Given the description of an element on the screen output the (x, y) to click on. 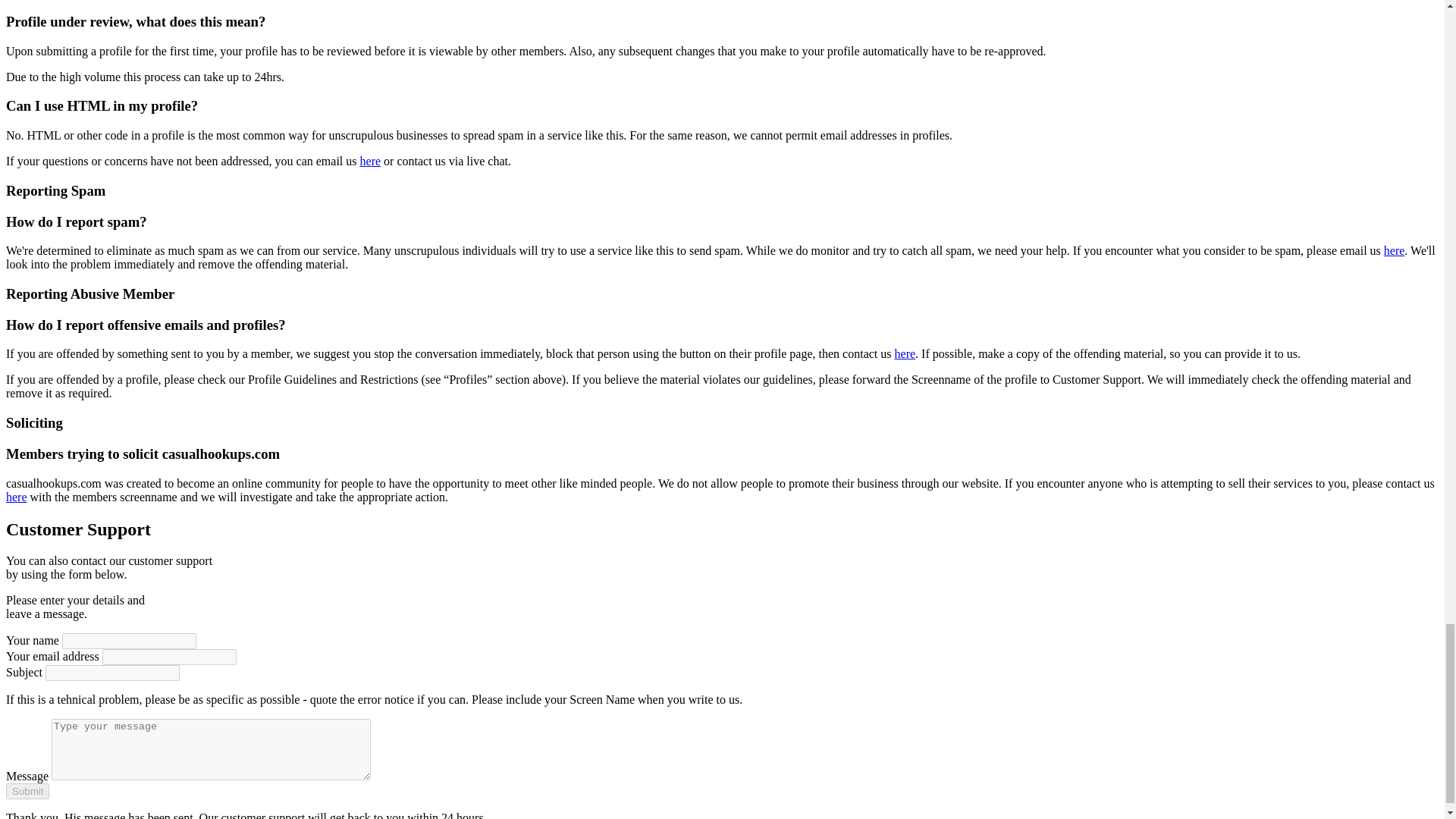
Submit (27, 790)
here (16, 496)
here (905, 353)
here (1394, 250)
here (370, 160)
Submit (27, 790)
live chat. (488, 160)
